Given the description of an element on the screen output the (x, y) to click on. 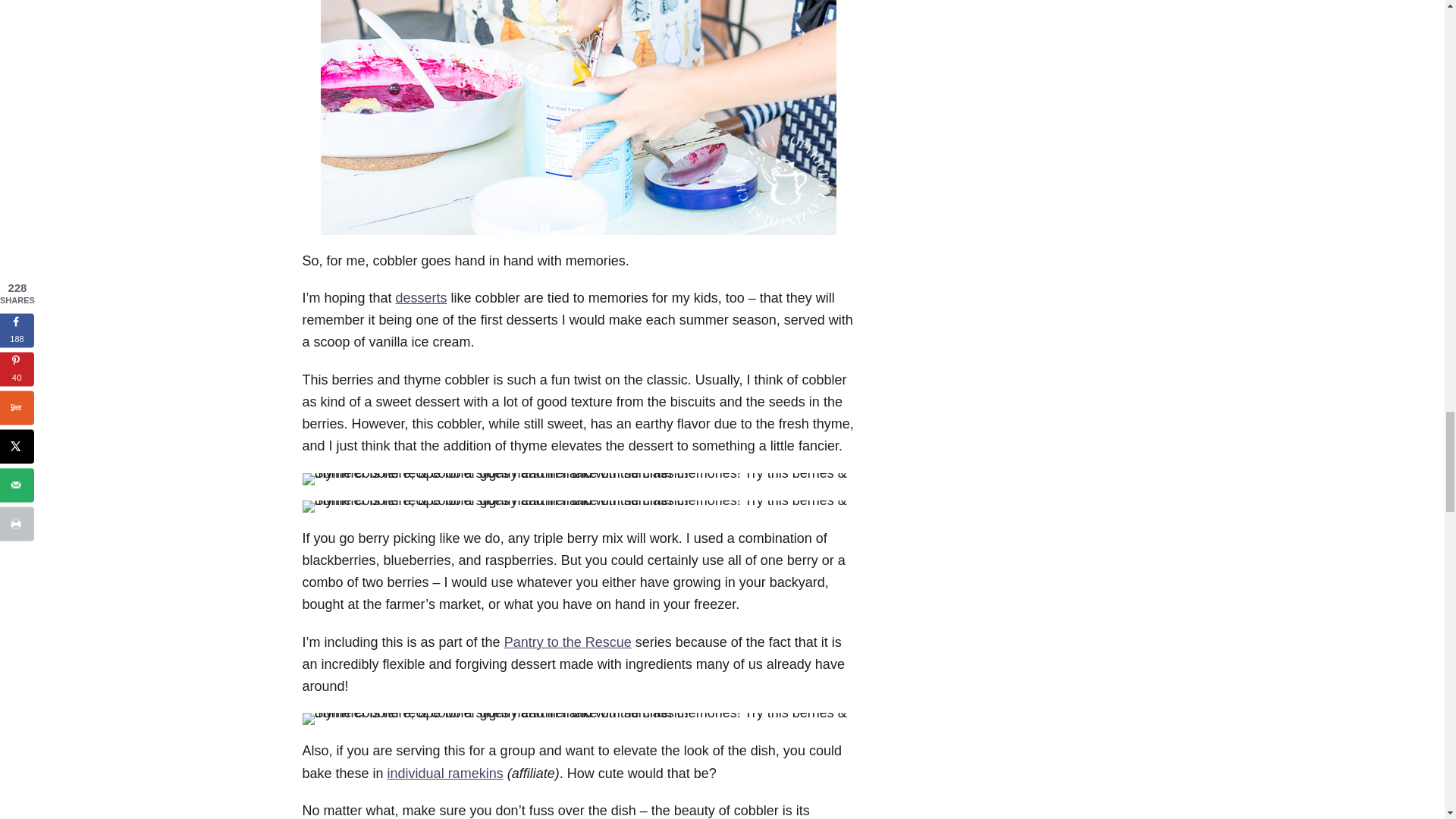
Pantry to the Rescue (567, 642)
individual ramekins (445, 773)
desserts (421, 297)
tasting berry cobbler (577, 117)
berries and thyme cobbler baby (577, 479)
